Given the description of an element on the screen output the (x, y) to click on. 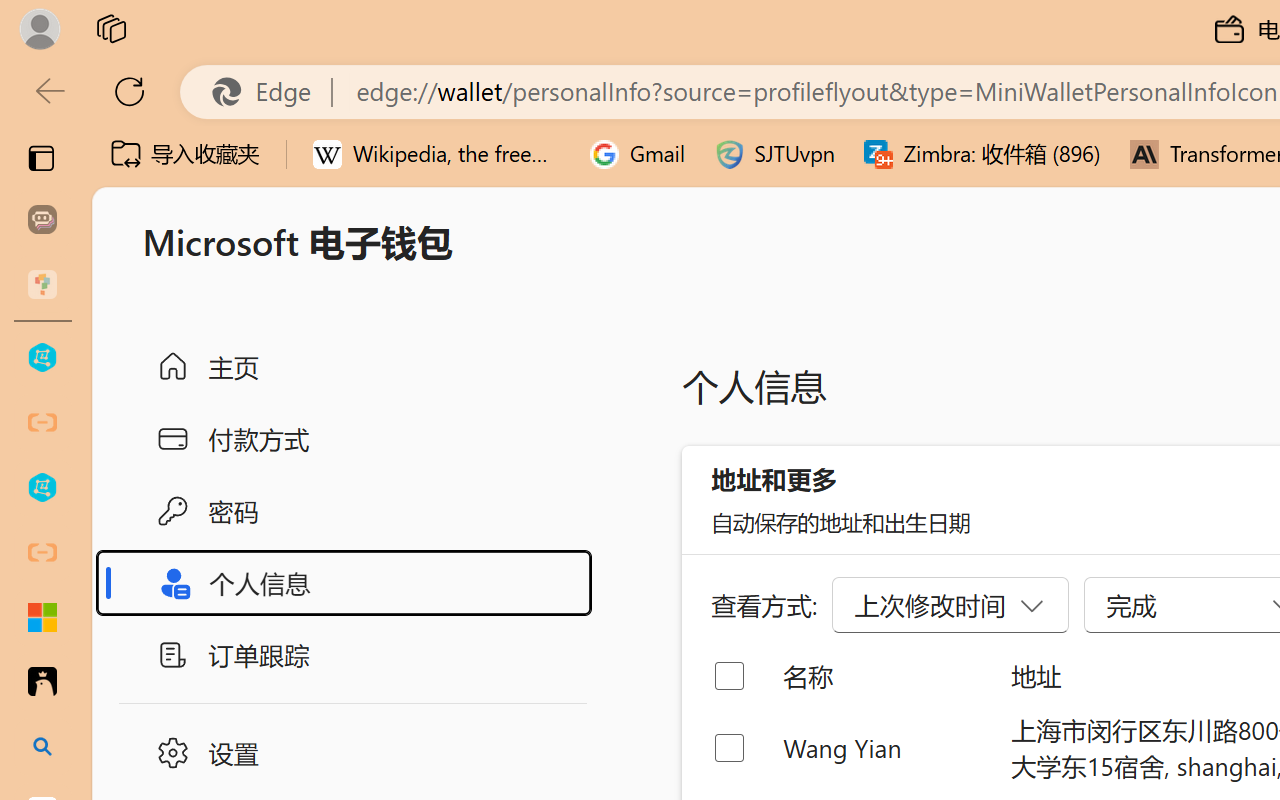
wangyian_webcrawler - DSW (42, 487)
SJTUvpn (774, 154)
Wikipedia, the free encyclopedia (437, 154)
